Given the description of an element on the screen output the (x, y) to click on. 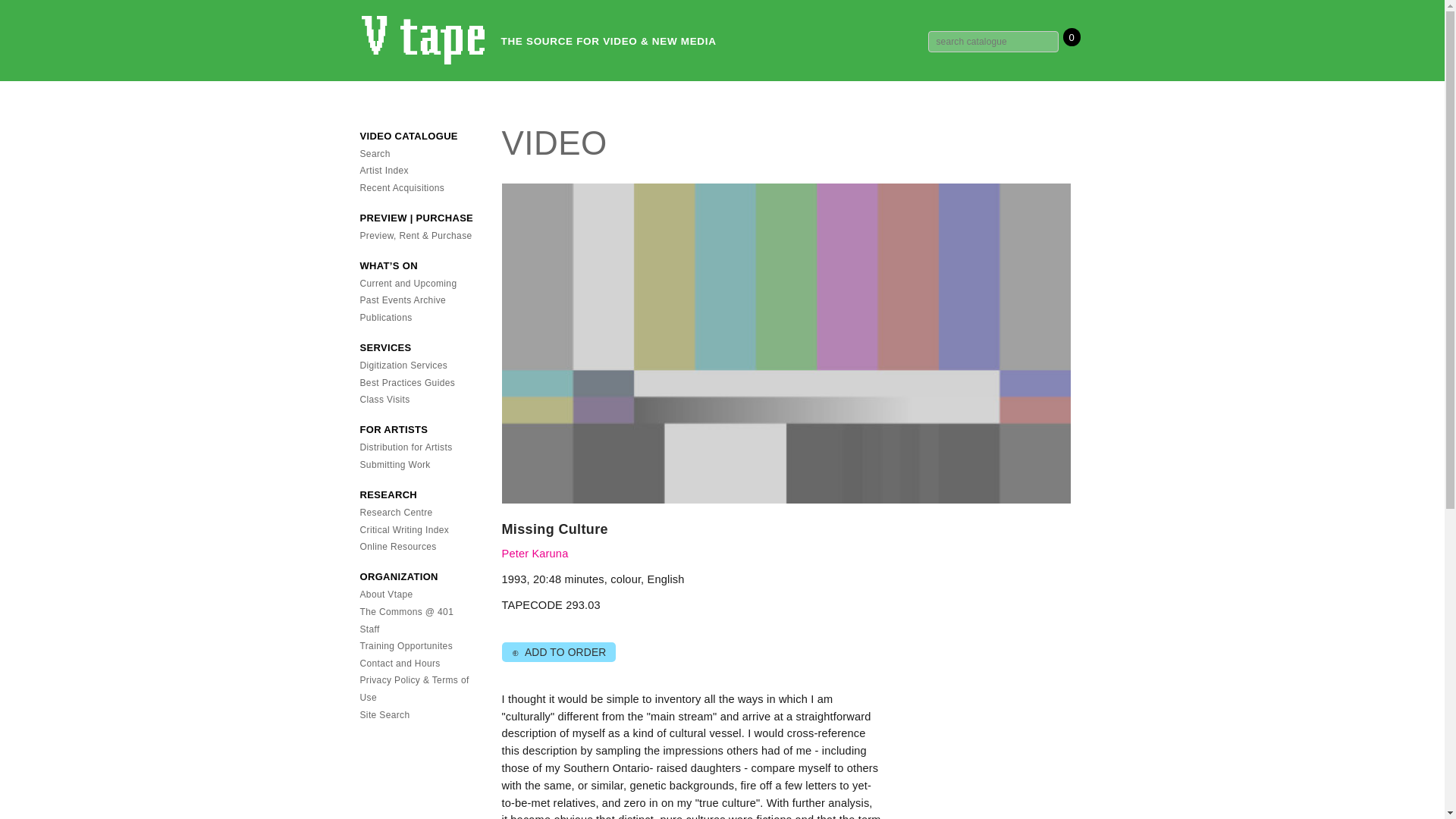
Recent Acquisitions (401, 187)
Search catalogue: (993, 41)
Add this title to your media request list. (558, 652)
Search (374, 153)
Critical Writing Index Search (403, 529)
Peter Karuna (535, 553)
Artist Index (383, 170)
